Given the description of an element on the screen output the (x, y) to click on. 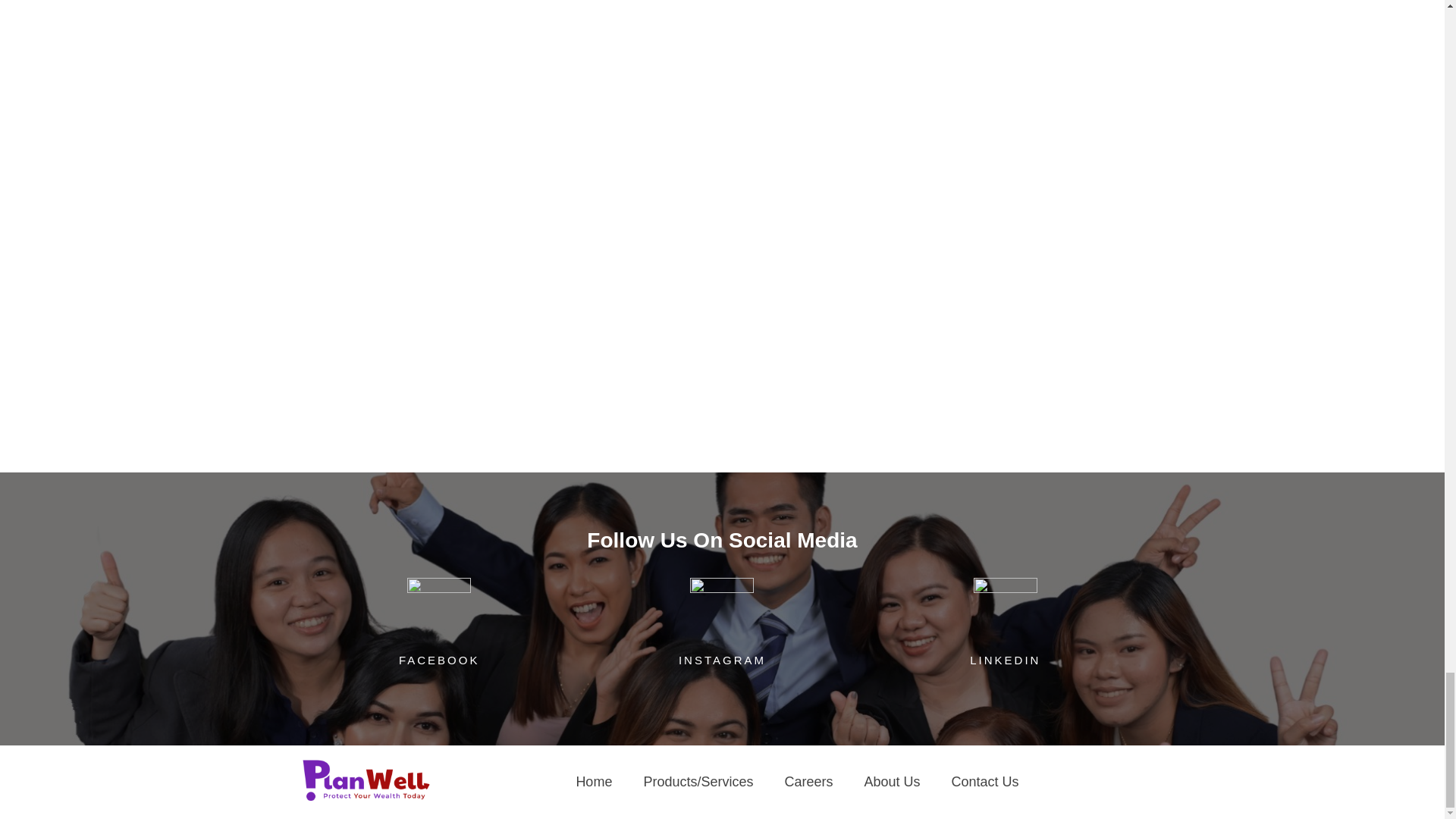
About Us (891, 781)
LINKEDIN (1005, 659)
Home (593, 781)
INSTAGRAM (721, 659)
FACEBOOK (439, 659)
Careers (808, 781)
Contact Us (985, 781)
